Given the description of an element on the screen output the (x, y) to click on. 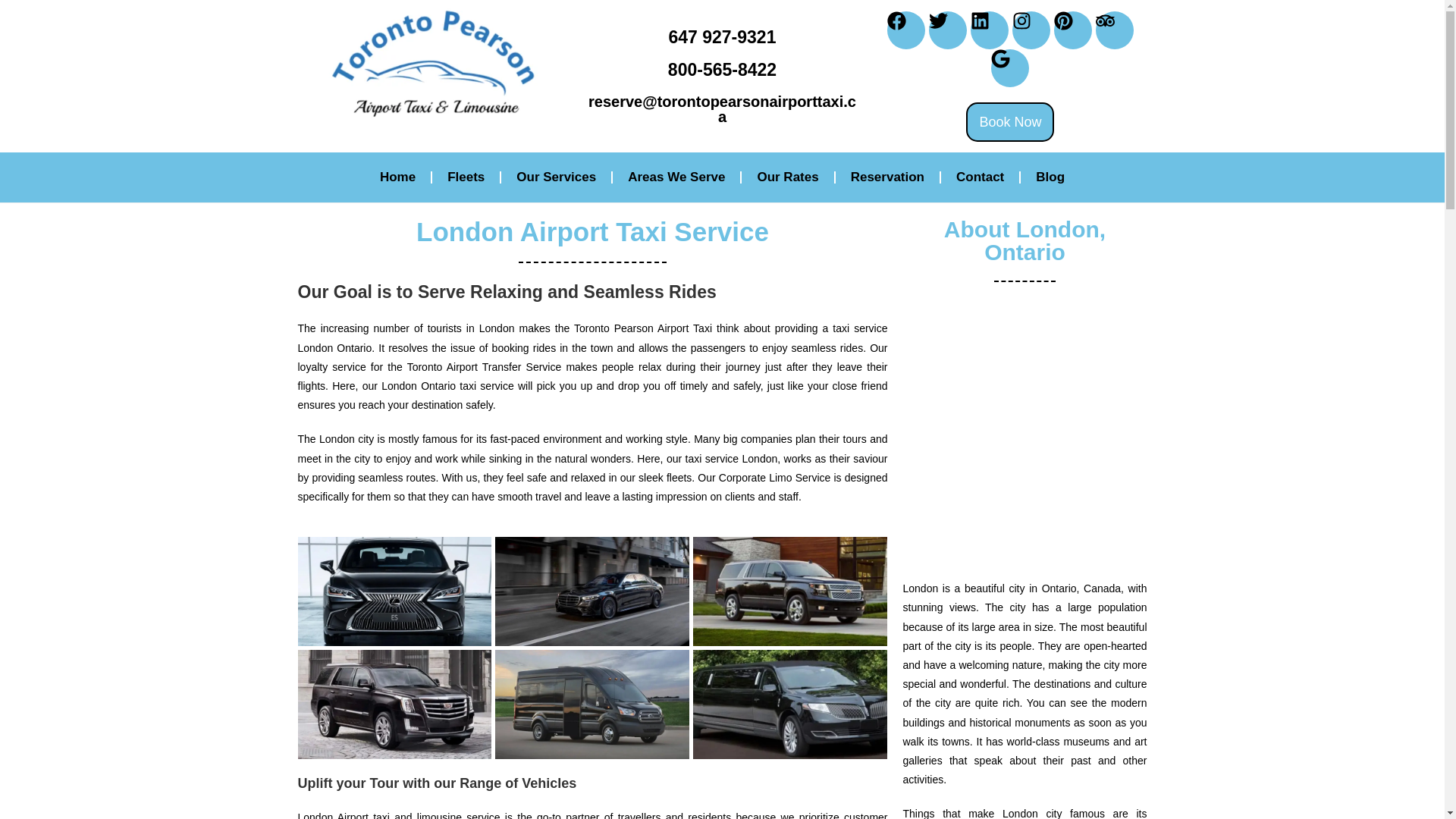
Blog (1050, 176)
Reservation (887, 176)
London, on (1024, 431)
Our Services (555, 176)
Contact (979, 176)
Book Now (1010, 121)
800-565-8422 (722, 69)
Fleets (465, 176)
647 927-9321 (722, 36)
Areas We Serve (675, 176)
